Given the description of an element on the screen output the (x, y) to click on. 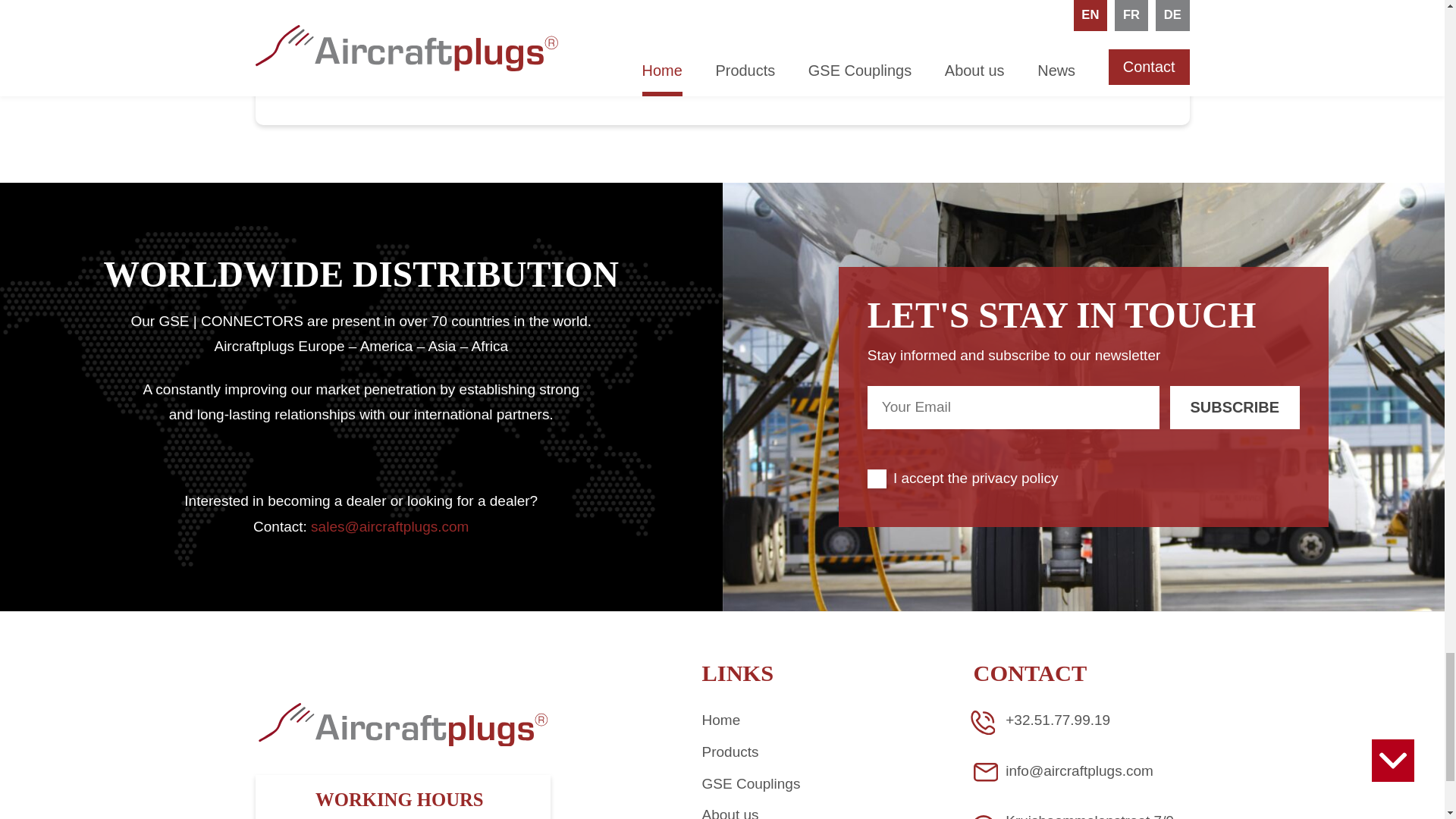
subscribe (1235, 407)
